Given the description of an element on the screen output the (x, y) to click on. 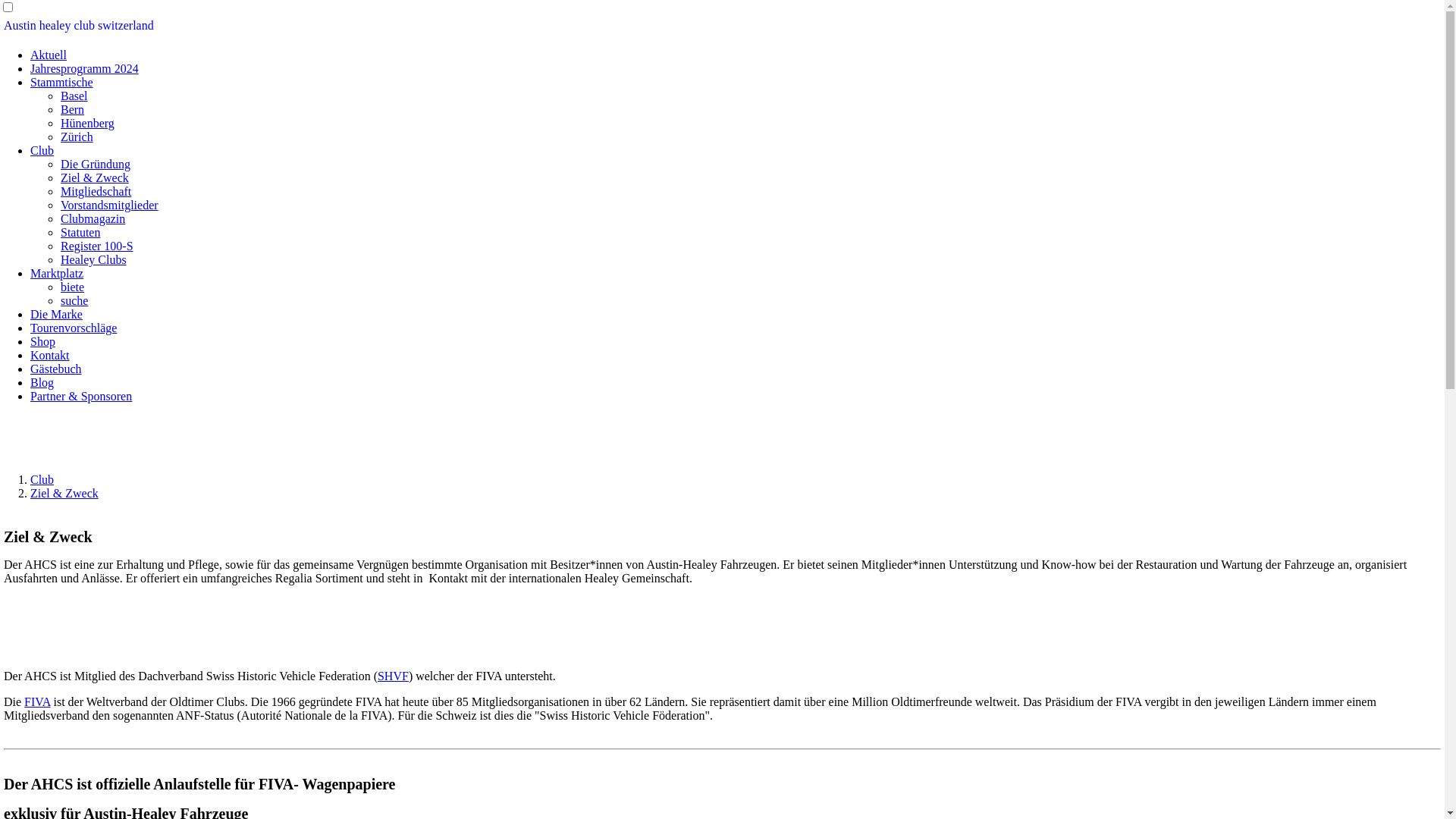
Statuten Element type: text (80, 231)
Mitgliedschaft Element type: text (95, 191)
Shop Element type: text (42, 341)
Austin healey club switzerland Element type: text (78, 24)
Partner & Sponsoren Element type: text (80, 395)
Jahresprogramm 2024 Element type: text (84, 68)
Blog Element type: text (41, 382)
Die Marke Element type: text (56, 313)
Basel Element type: text (73, 95)
Stammtische Element type: text (61, 81)
Aktuell Element type: text (48, 54)
FIVA Element type: text (37, 701)
Register 100-S Element type: text (96, 245)
Marktplatz Element type: text (56, 272)
Bern Element type: text (72, 109)
Ziel & Zweck Element type: text (64, 492)
Clubmagazin Element type: text (92, 218)
SHVF Element type: text (392, 675)
Club Element type: text (41, 479)
Vorstandsmitglieder Element type: text (109, 204)
Ziel & Zweck Element type: text (94, 177)
Kontakt Element type: text (49, 354)
suche Element type: text (73, 300)
Healey Clubs Element type: text (93, 259)
Club Element type: text (41, 150)
biete Element type: text (72, 286)
